Given the description of an element on the screen output the (x, y) to click on. 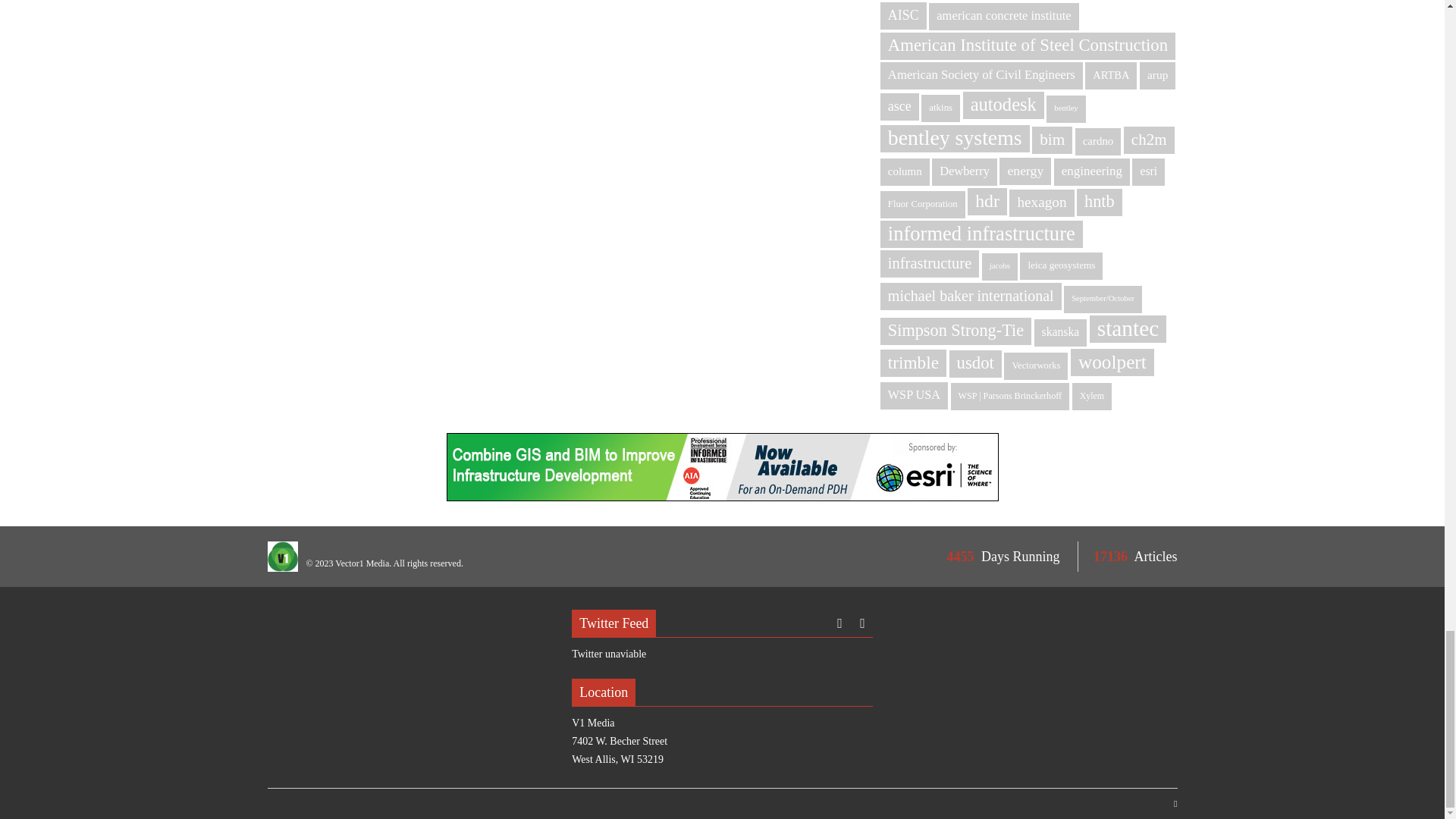
ESRI (721, 467)
